Given the description of an element on the screen output the (x, y) to click on. 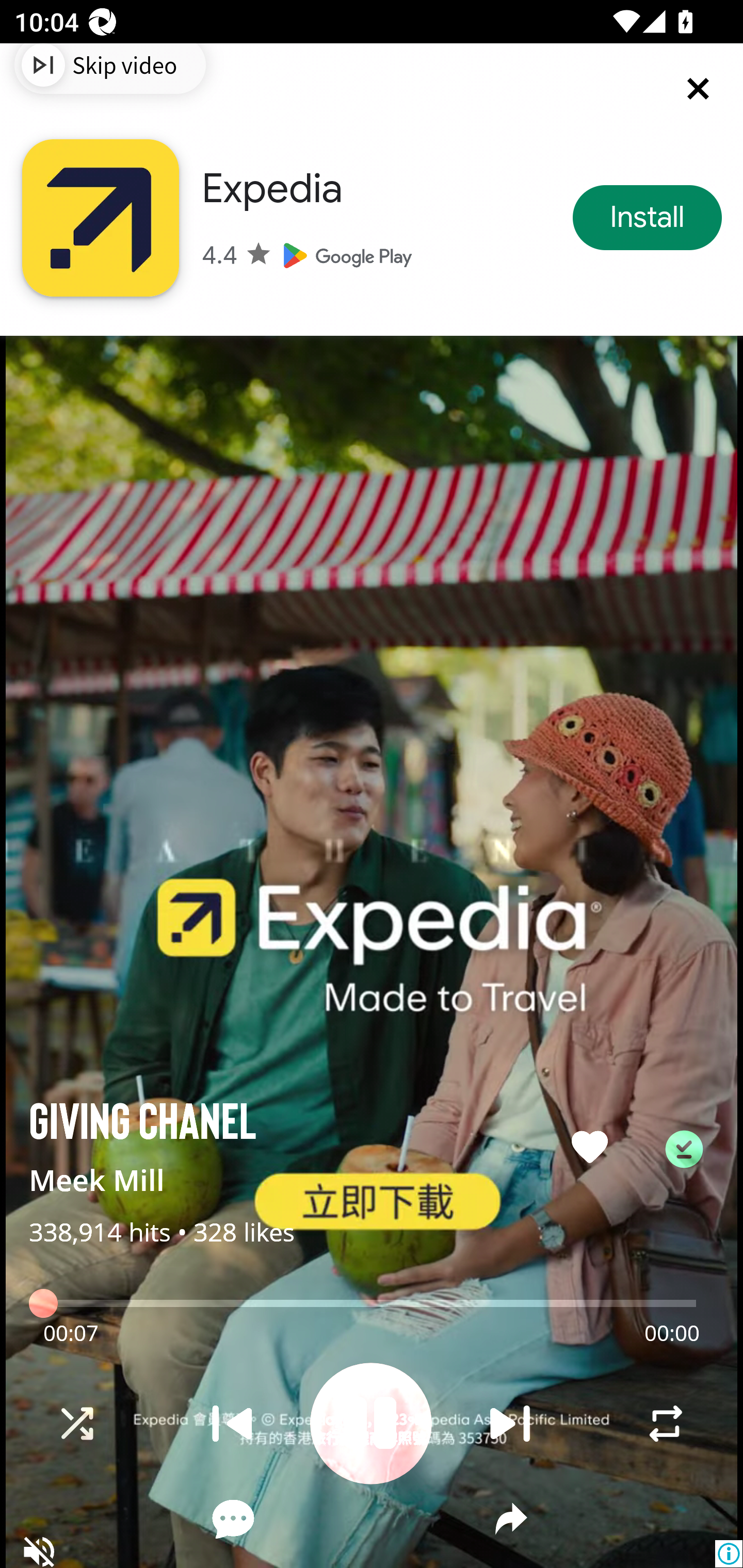
Interstitial close button (679, 106)
Install (647, 216)
